Given the description of an element on the screen output the (x, y) to click on. 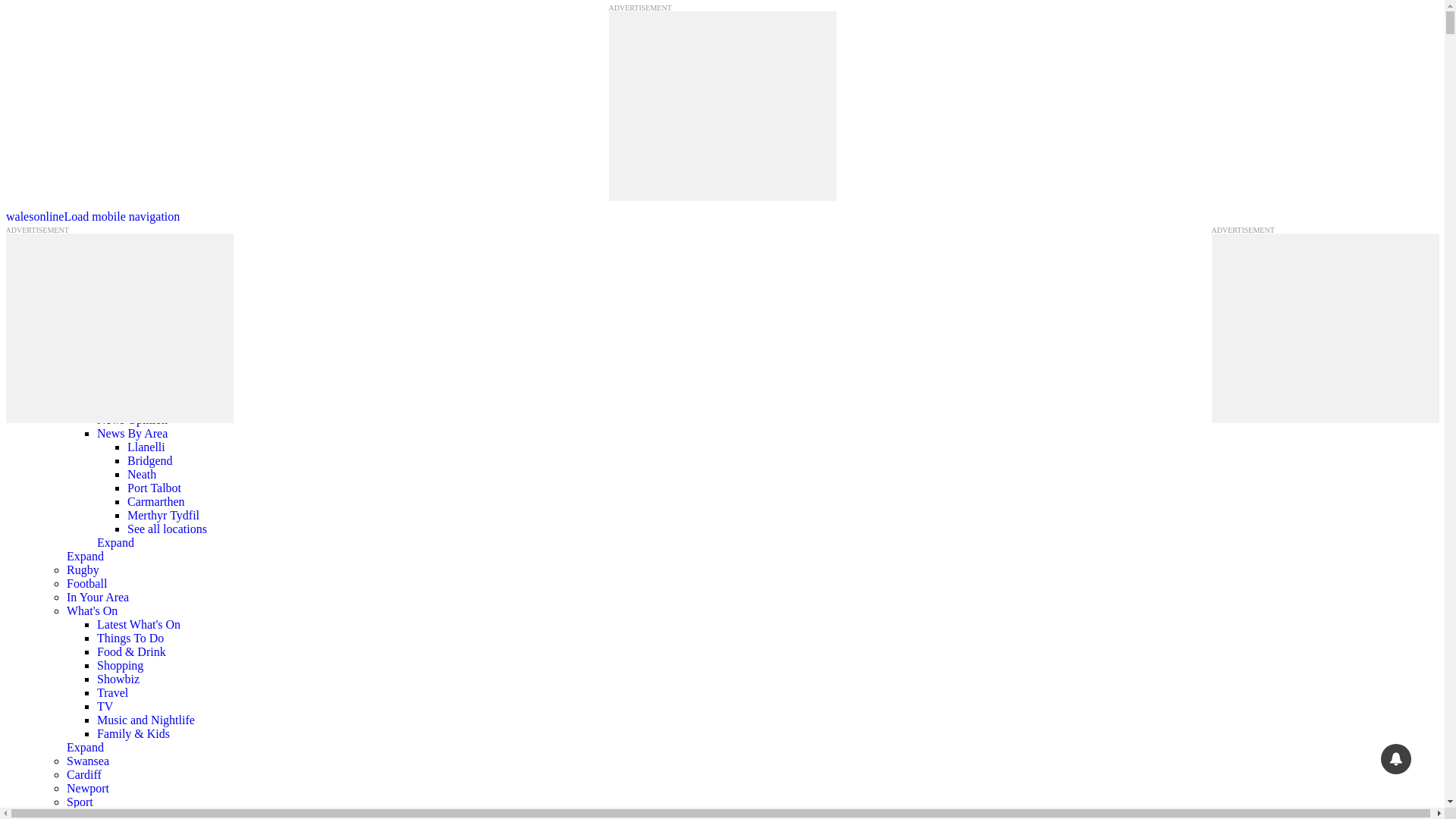
Travel (112, 692)
walesonline (34, 215)
See all locations (167, 528)
Football (86, 583)
Carmarthen (156, 501)
In Your Area (97, 596)
TV (105, 706)
Cost of living (130, 405)
Music and Nightlife (146, 719)
Showbiz (118, 678)
Politics (115, 323)
Latest What's On (138, 624)
Nostalgia (119, 378)
What's On (91, 610)
Llanelli (146, 446)
